Given the description of an element on the screen output the (x, y) to click on. 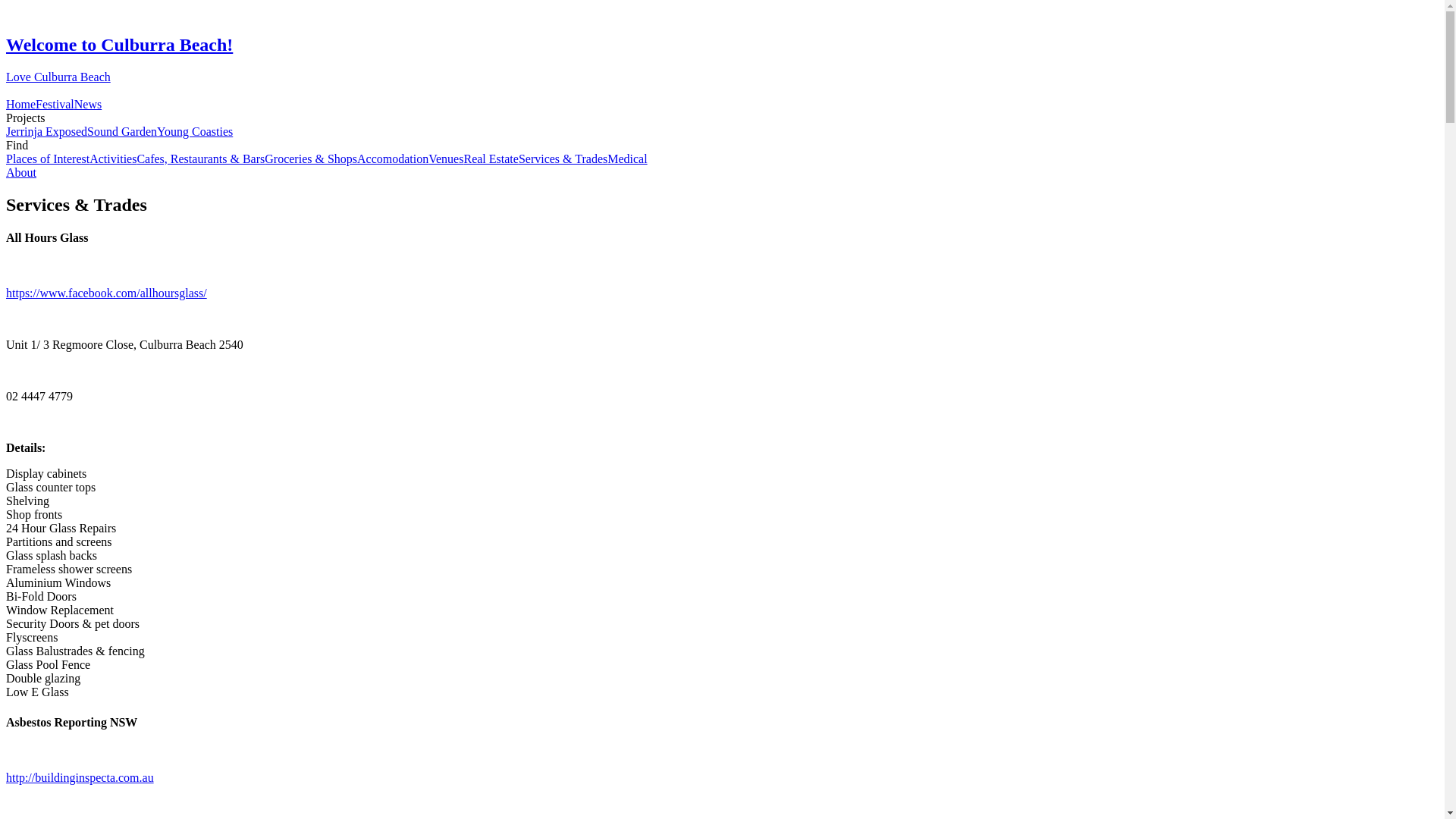
Festival Element type: text (54, 103)
Places of Interest Element type: text (47, 158)
Home Element type: text (20, 103)
Activities Element type: text (112, 158)
Venues Element type: text (445, 158)
https://www.facebook.com/allhoursglass/ Element type: text (722, 293)
Welcome to Culburra Beach! Element type: text (722, 44)
Services & Trades Element type: text (562, 158)
Groceries & Shops Element type: text (310, 158)
Young Coasties Element type: text (194, 131)
Love Culburra Beach Element type: text (722, 83)
Real Estate Element type: text (490, 158)
Medical Element type: text (626, 158)
http://buildinginspecta.com.au Element type: text (722, 777)
About Element type: text (21, 172)
News Element type: text (87, 103)
Jerrinja Exposed Element type: text (46, 131)
Cafes, Restaurants & Bars Element type: text (200, 158)
Sound Garden Element type: text (121, 131)
Accomodation Element type: text (392, 158)
